Given the description of an element on the screen output the (x, y) to click on. 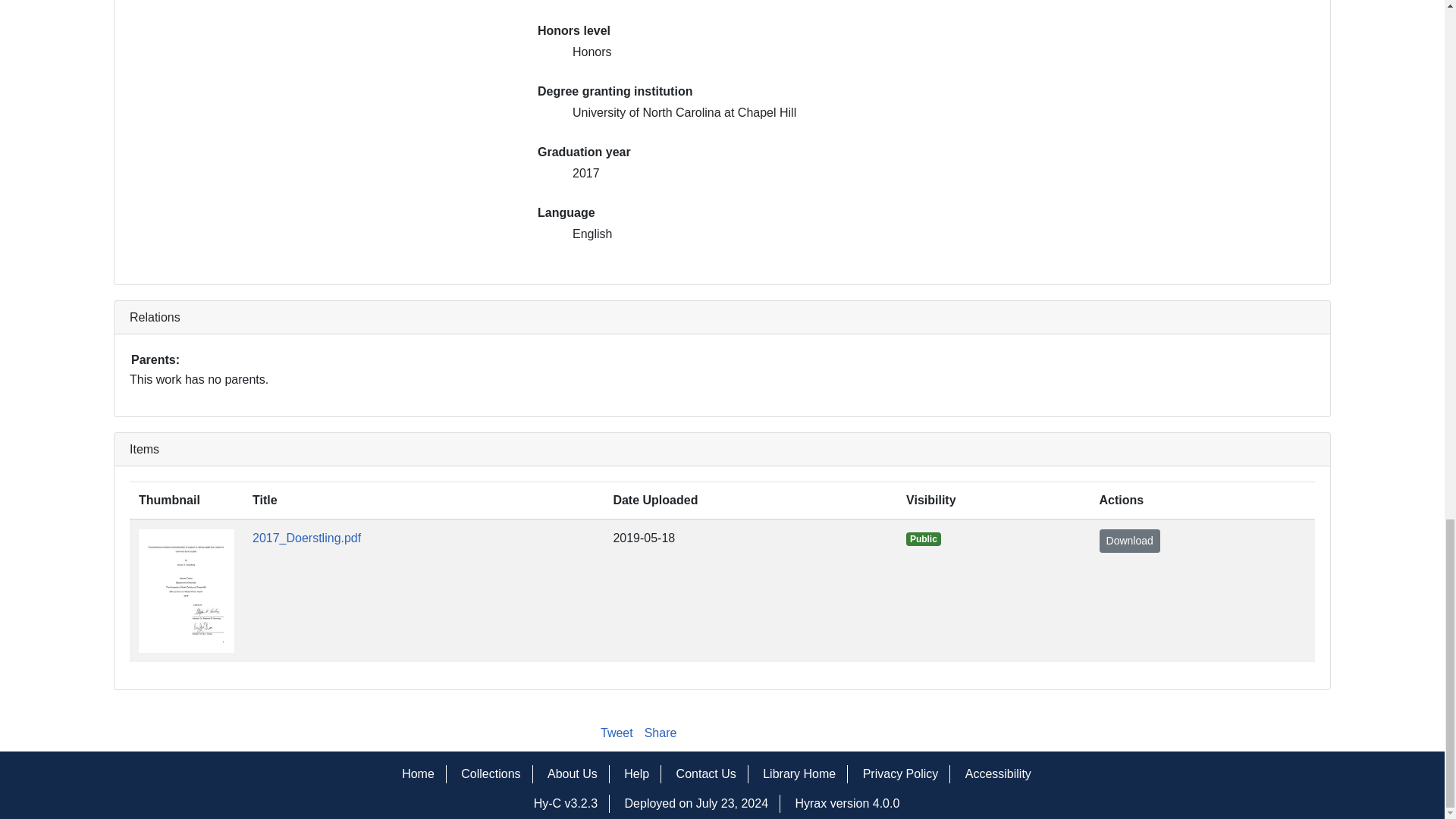
Home (417, 773)
translation missing: en.hyrax.links.home (417, 773)
About Us (571, 773)
Download (1129, 540)
Collections (490, 773)
Share (661, 732)
Tweet (616, 732)
ebae8b74f2c520dc3f5b830832e67ccaf28d55db (572, 803)
